Given the description of an element on the screen output the (x, y) to click on. 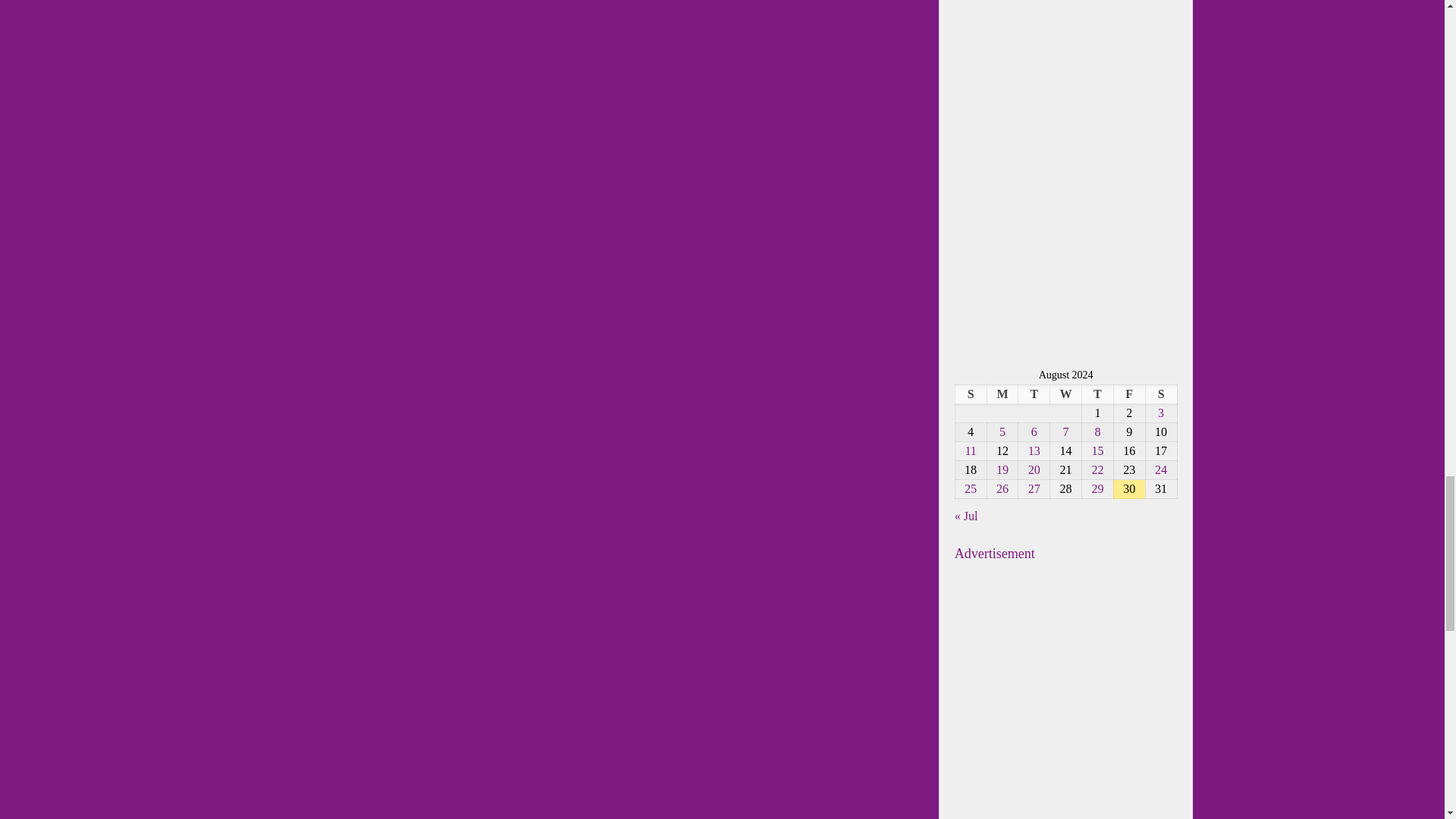
Friday (1128, 394)
Wednesday (1065, 394)
Thursday (1097, 394)
Monday (1002, 394)
Sunday (971, 394)
Tuesday (1033, 394)
Saturday (1160, 394)
